Given the description of an element on the screen output the (x, y) to click on. 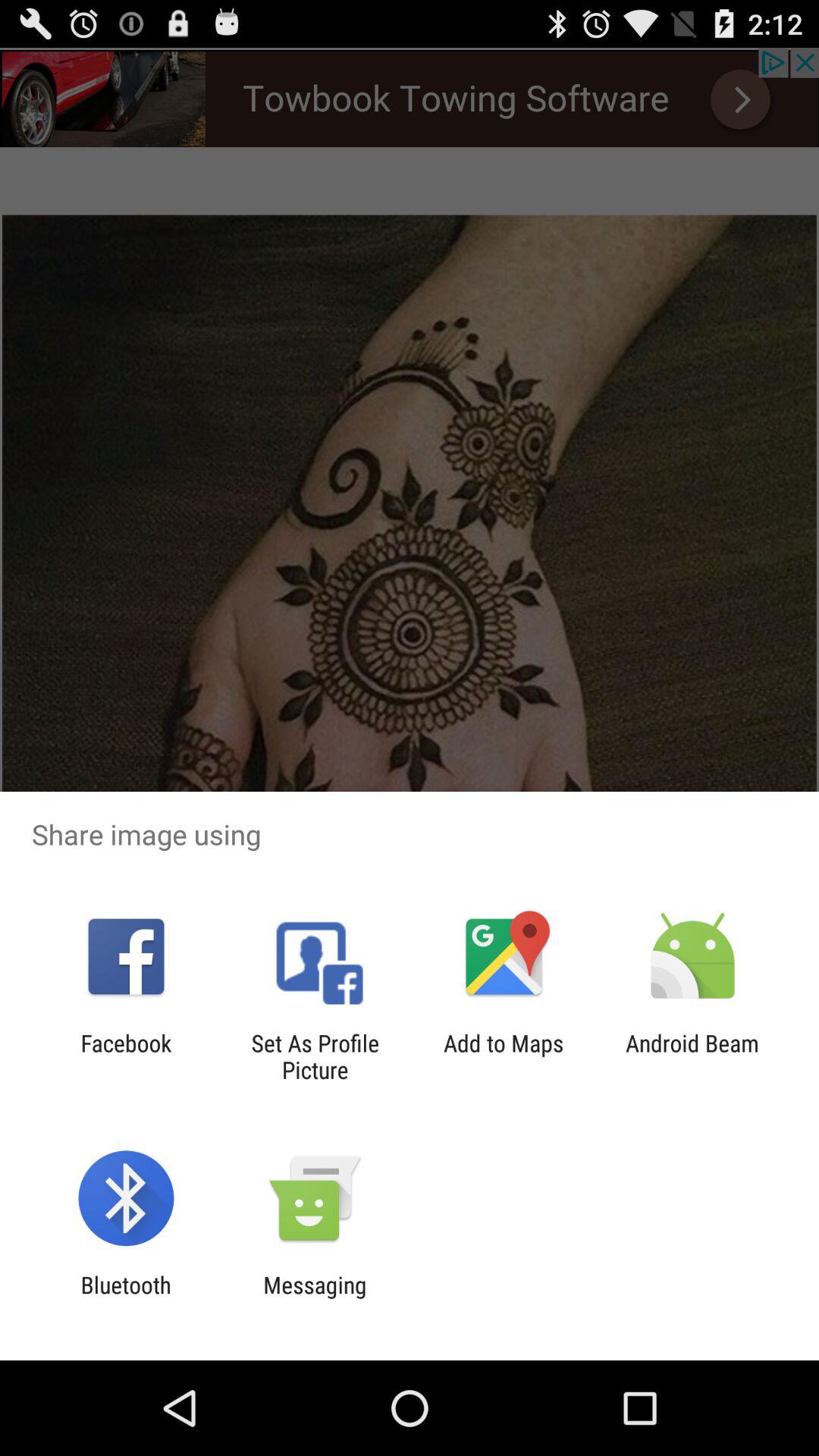
press the icon next to the messaging app (125, 1298)
